Given the description of an element on the screen output the (x, y) to click on. 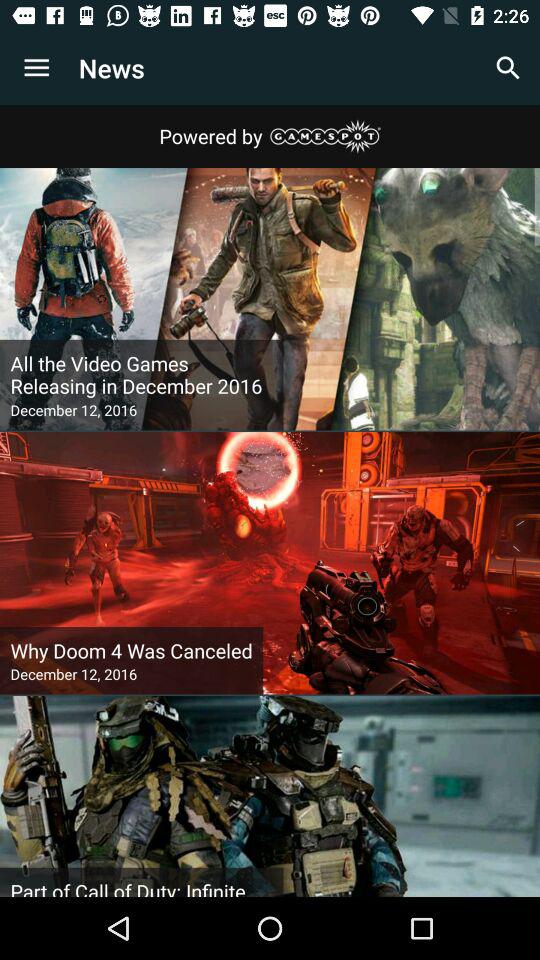
turn off icon above the december 12, 2016 item (131, 650)
